Given the description of an element on the screen output the (x, y) to click on. 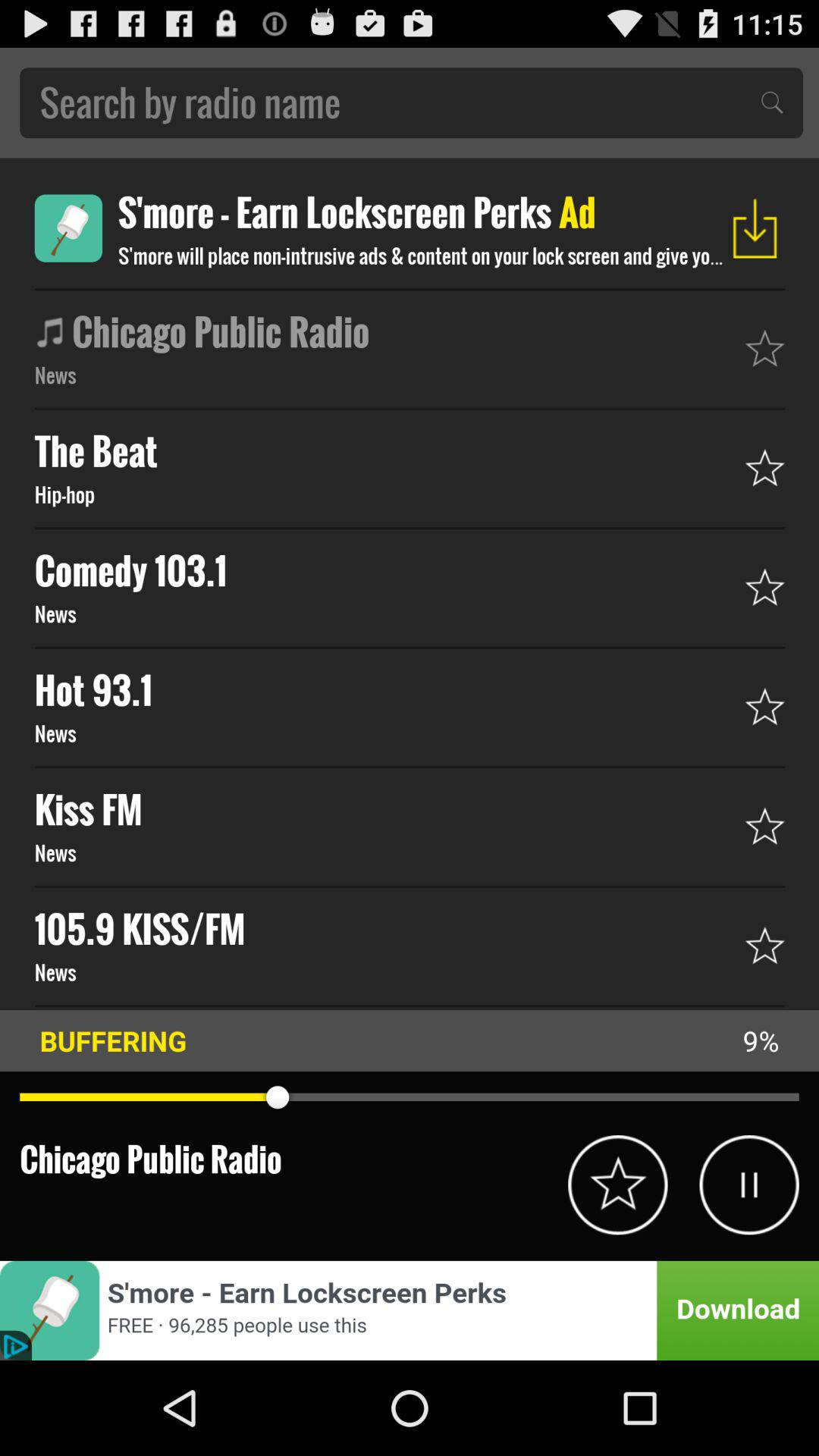
view advertisement (68, 228)
